Given the description of an element on the screen output the (x, y) to click on. 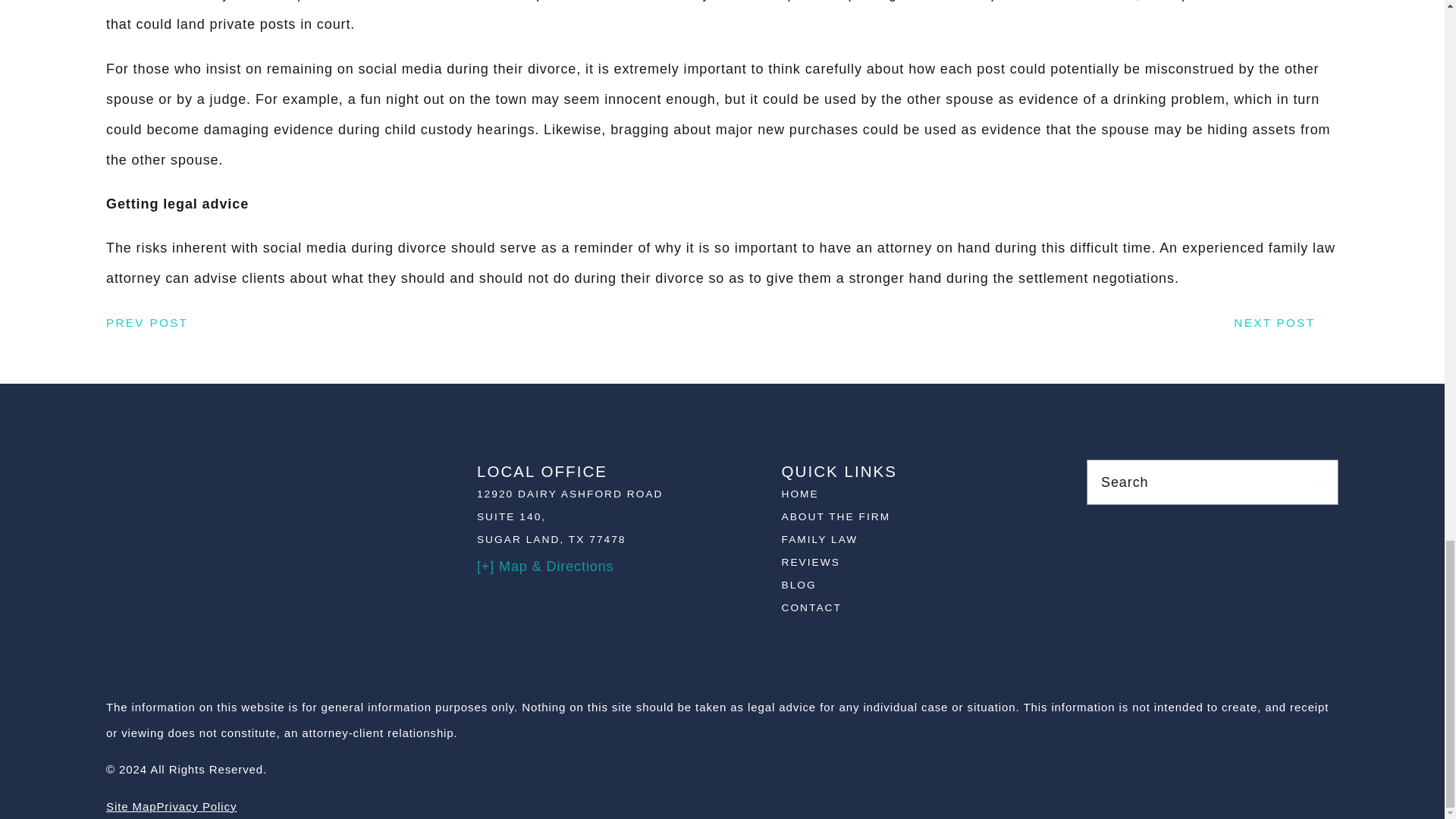
Facebook (1143, 561)
LinkedIn (1281, 561)
